Given the description of an element on the screen output the (x, y) to click on. 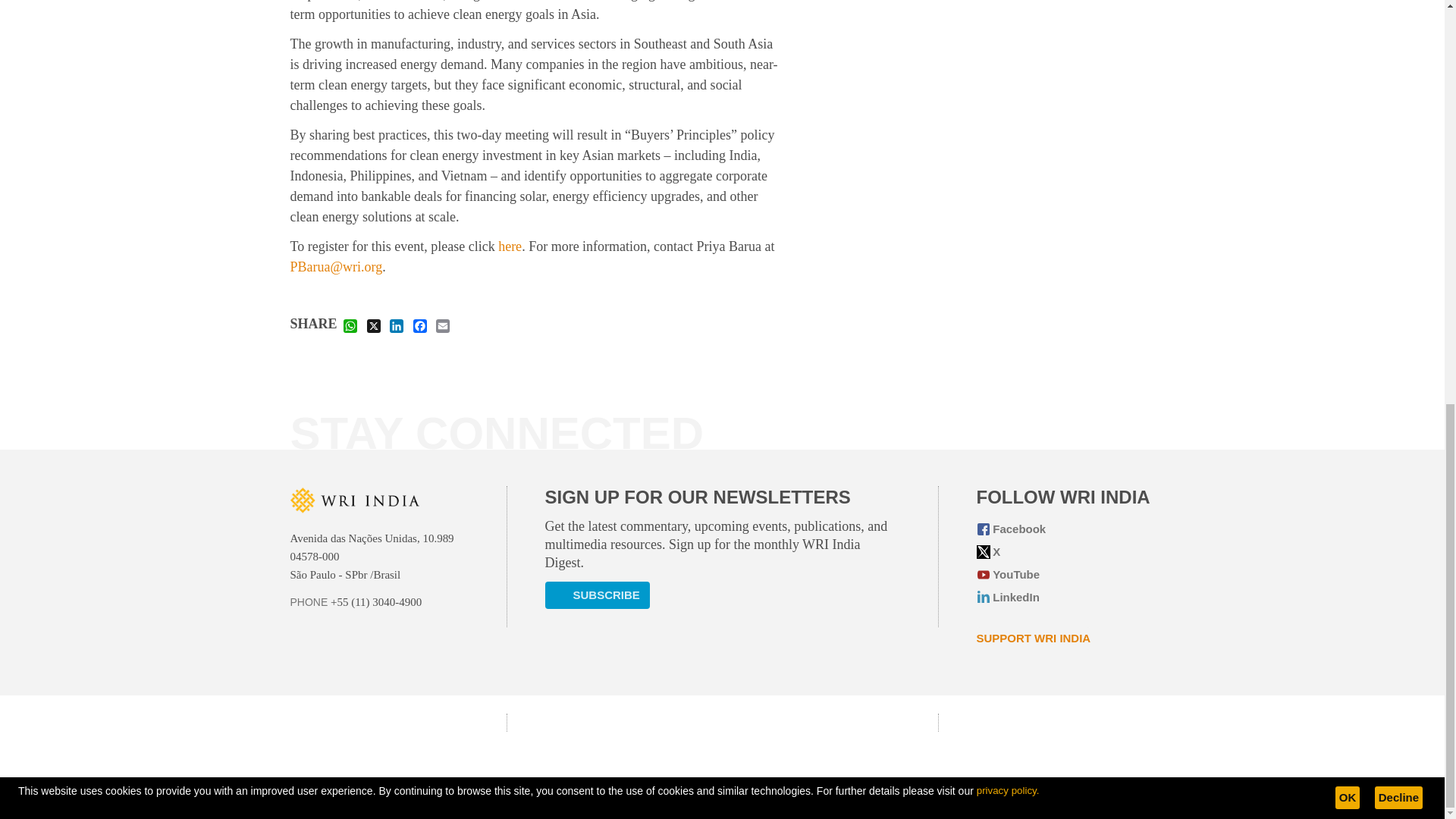
LinkedIn (1065, 597)
YouTube (1065, 574)
OK (1347, 5)
Facebook (1065, 528)
Facebook (419, 325)
Email (442, 325)
SUPPORT WRI INDIA (1033, 638)
Twitter (1065, 551)
Decline (1398, 5)
here (509, 246)
